Given the description of an element on the screen output the (x, y) to click on. 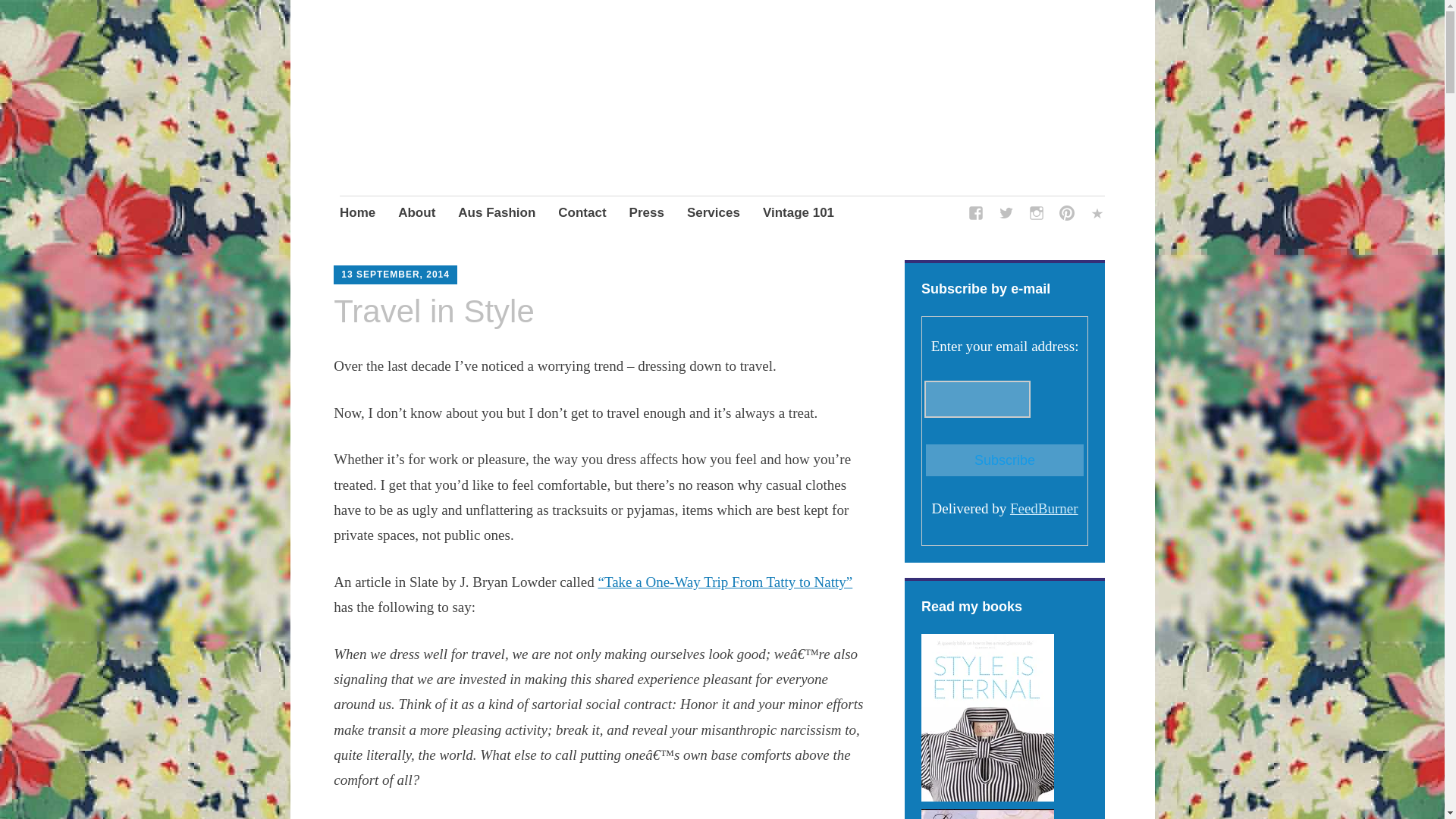
About (416, 214)
Vintage 101 (798, 214)
Home (357, 214)
Circa Vintage Clothing (508, 132)
Press (645, 214)
Subscribe (1004, 460)
Aus Fashion (496, 214)
13 SEPTEMBER, 2014 (394, 274)
Contact (581, 214)
Services (713, 214)
